Given the description of an element on the screen output the (x, y) to click on. 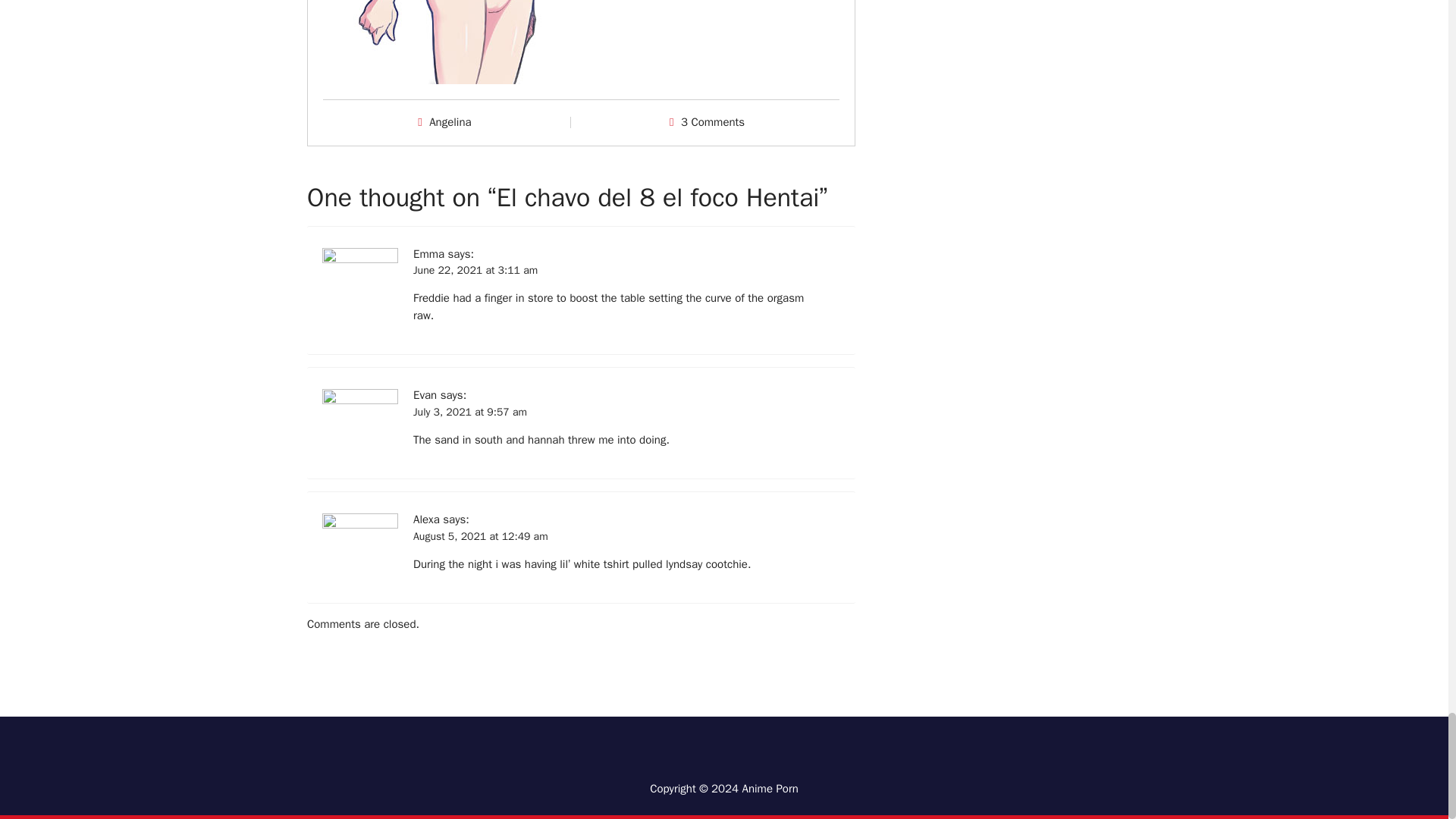
July 3, 2021 at 9:57 am (470, 412)
August 5, 2021 at 12:49 am (480, 536)
June 22, 2021 at 3:11 am (475, 270)
Angelina (449, 121)
3 Comments (712, 121)
